Given the description of an element on the screen output the (x, y) to click on. 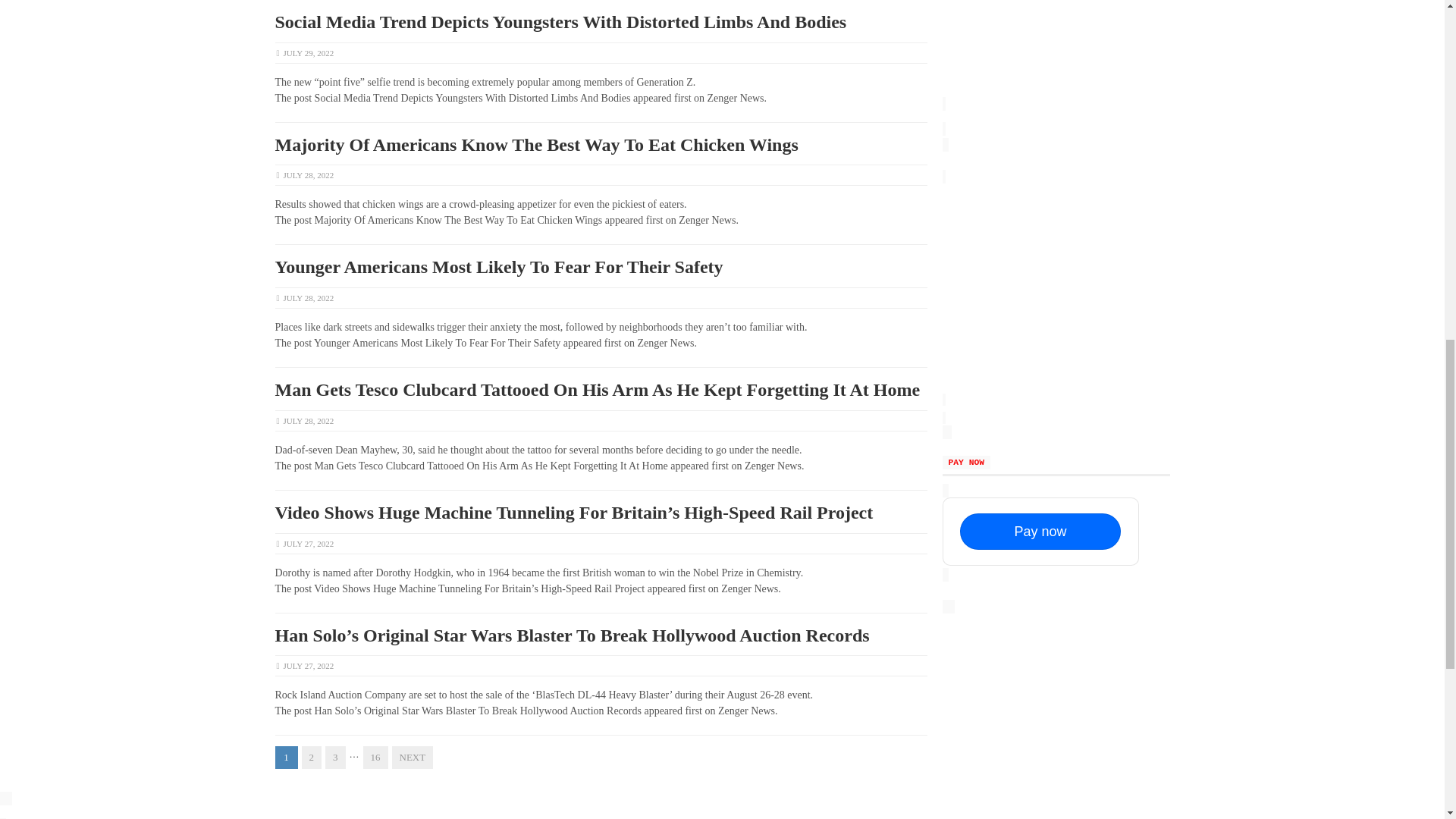
16 (374, 757)
Pay now (1040, 531)
2 (311, 757)
Majority Of Americans Know The Best Way To Eat Chicken Wings (536, 144)
3 (335, 757)
Younger Americans Most Likely To Fear For Their Safety (498, 266)
NEXT (411, 757)
